Given the description of an element on the screen output the (x, y) to click on. 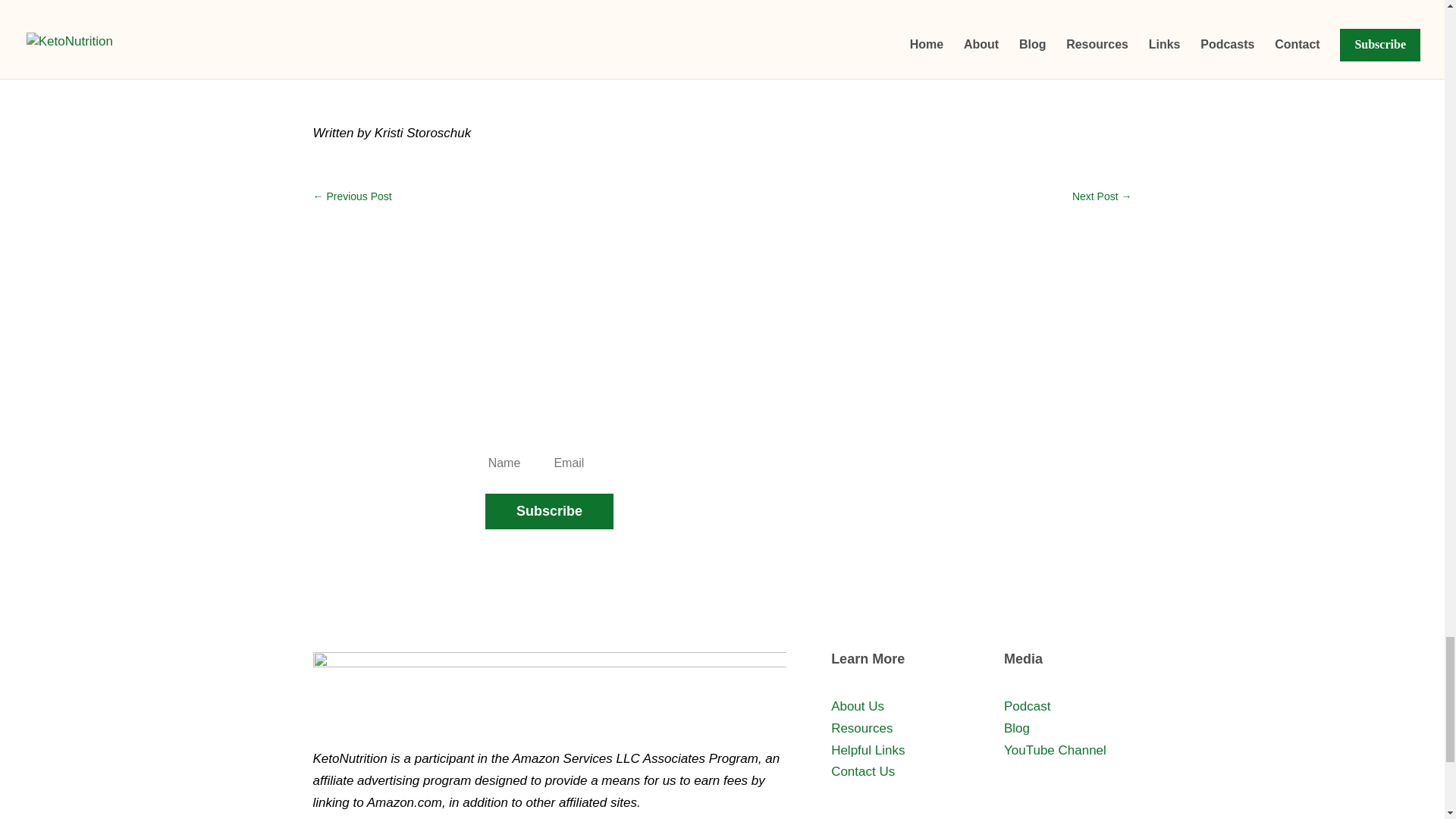
Contact Us (863, 771)
Helpful Links (867, 749)
Subscribe (548, 511)
About Us (857, 706)
Resources (861, 728)
